Given the description of an element on the screen output the (x, y) to click on. 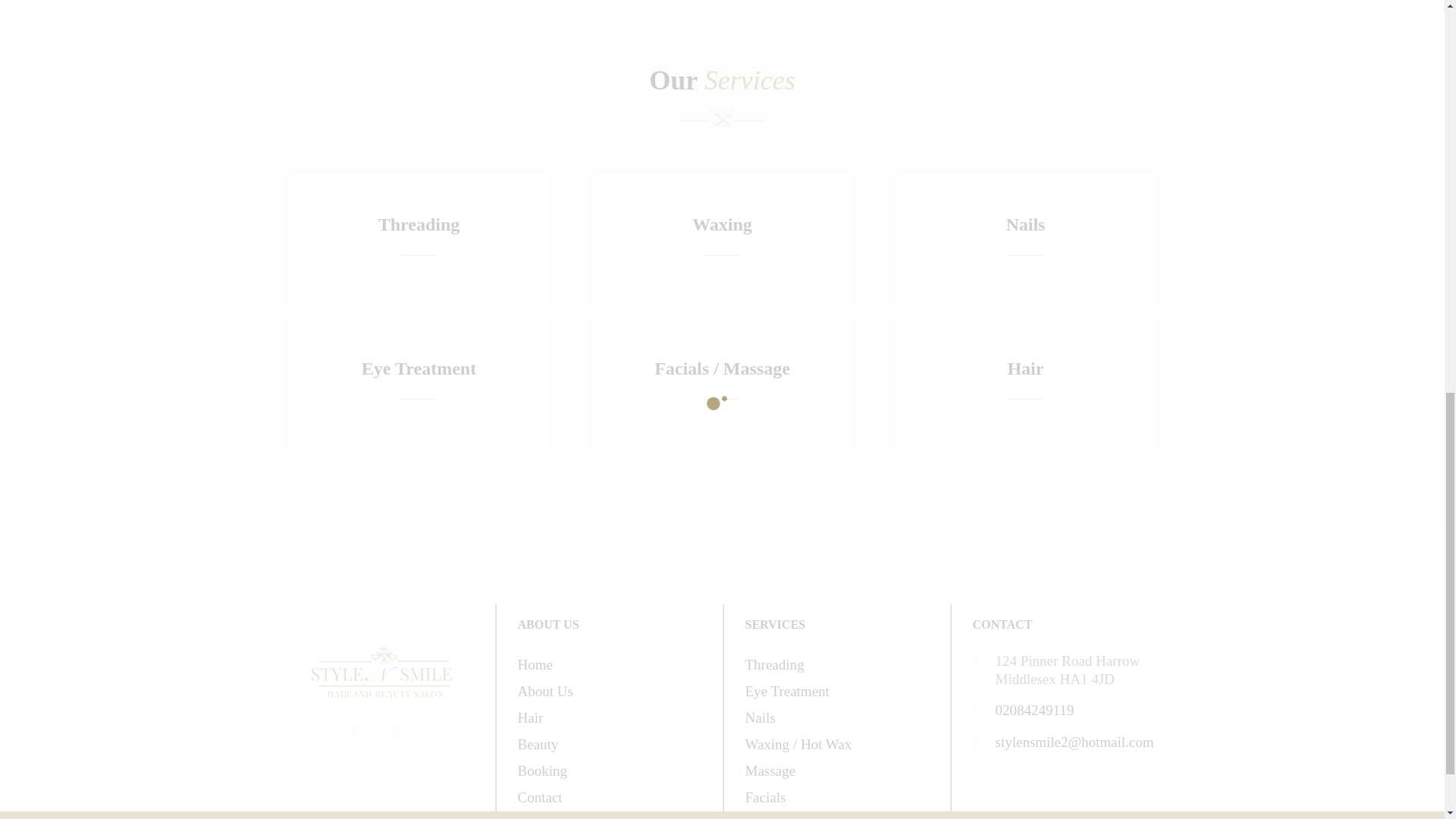
Booking (541, 770)
Hair Salon (380, 672)
Threading (773, 664)
Home (533, 664)
Contact (539, 797)
Beauty (536, 744)
Eye Treatment (786, 691)
Nails (759, 717)
About Us (544, 691)
Massage (769, 770)
Hair (529, 717)
